Given the description of an element on the screen output the (x, y) to click on. 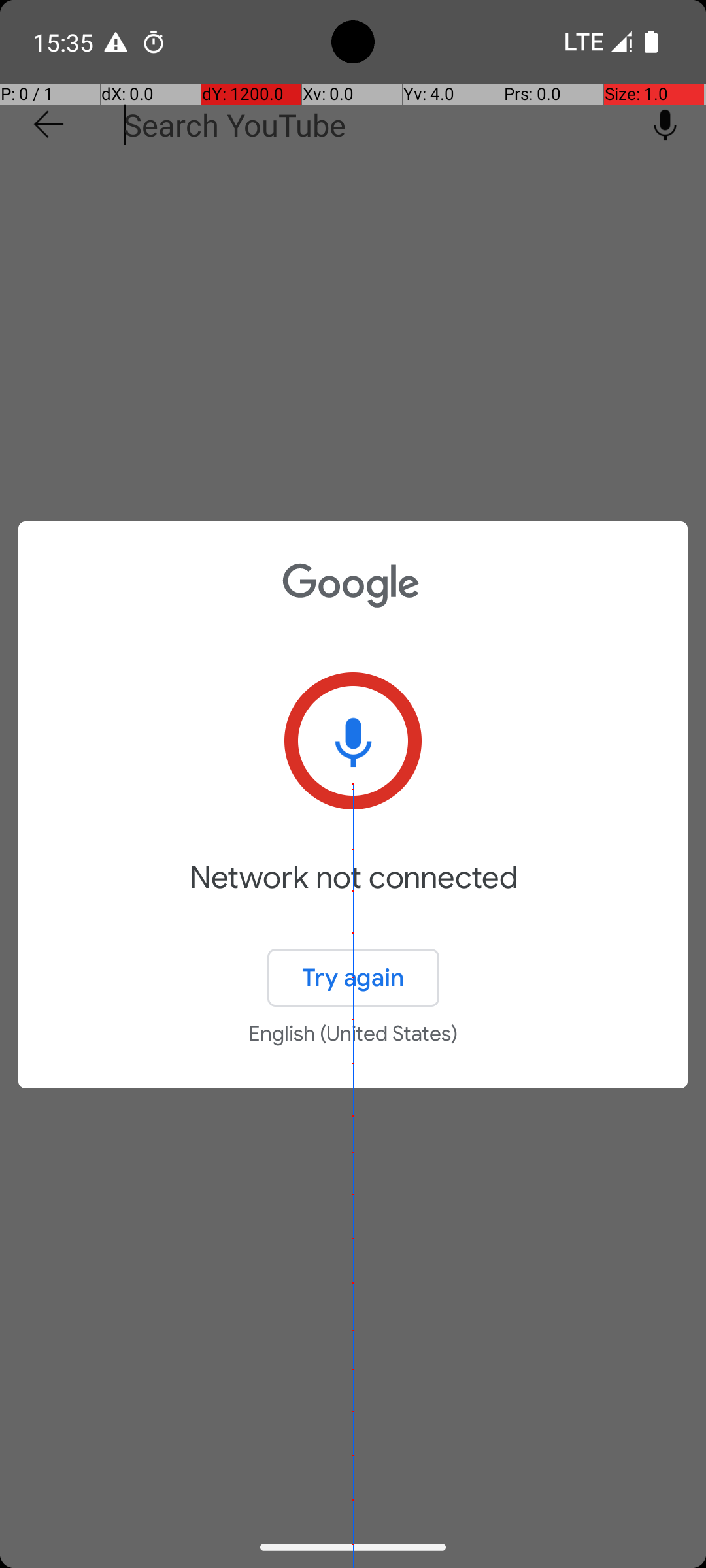
Network not connected Element type: android.widget.TextView (352, 895)
Try again Element type: android.widget.Button (353, 977)
